Given the description of an element on the screen output the (x, y) to click on. 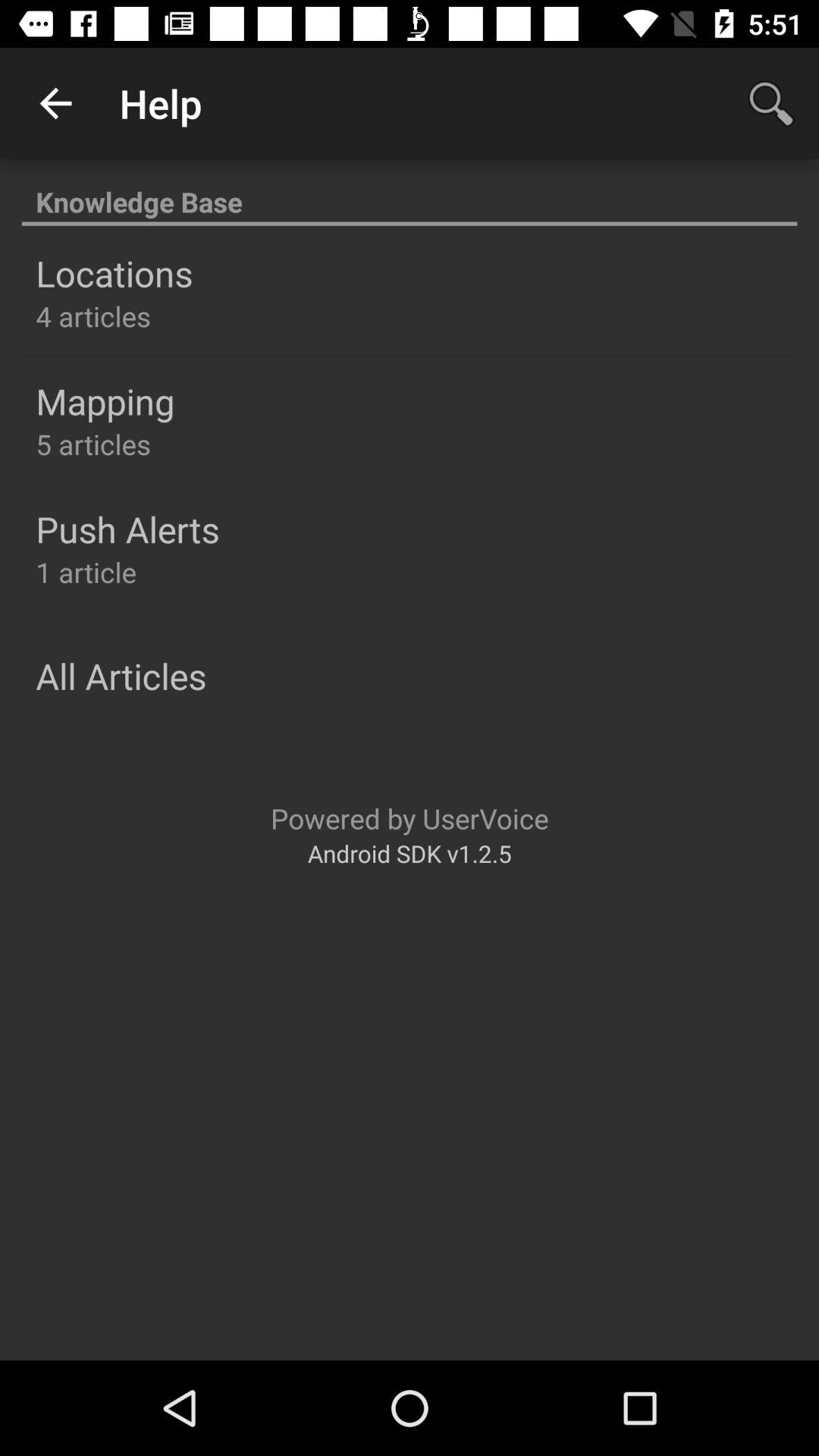
launch the powered by uservoice icon (409, 818)
